Given the description of an element on the screen output the (x, y) to click on. 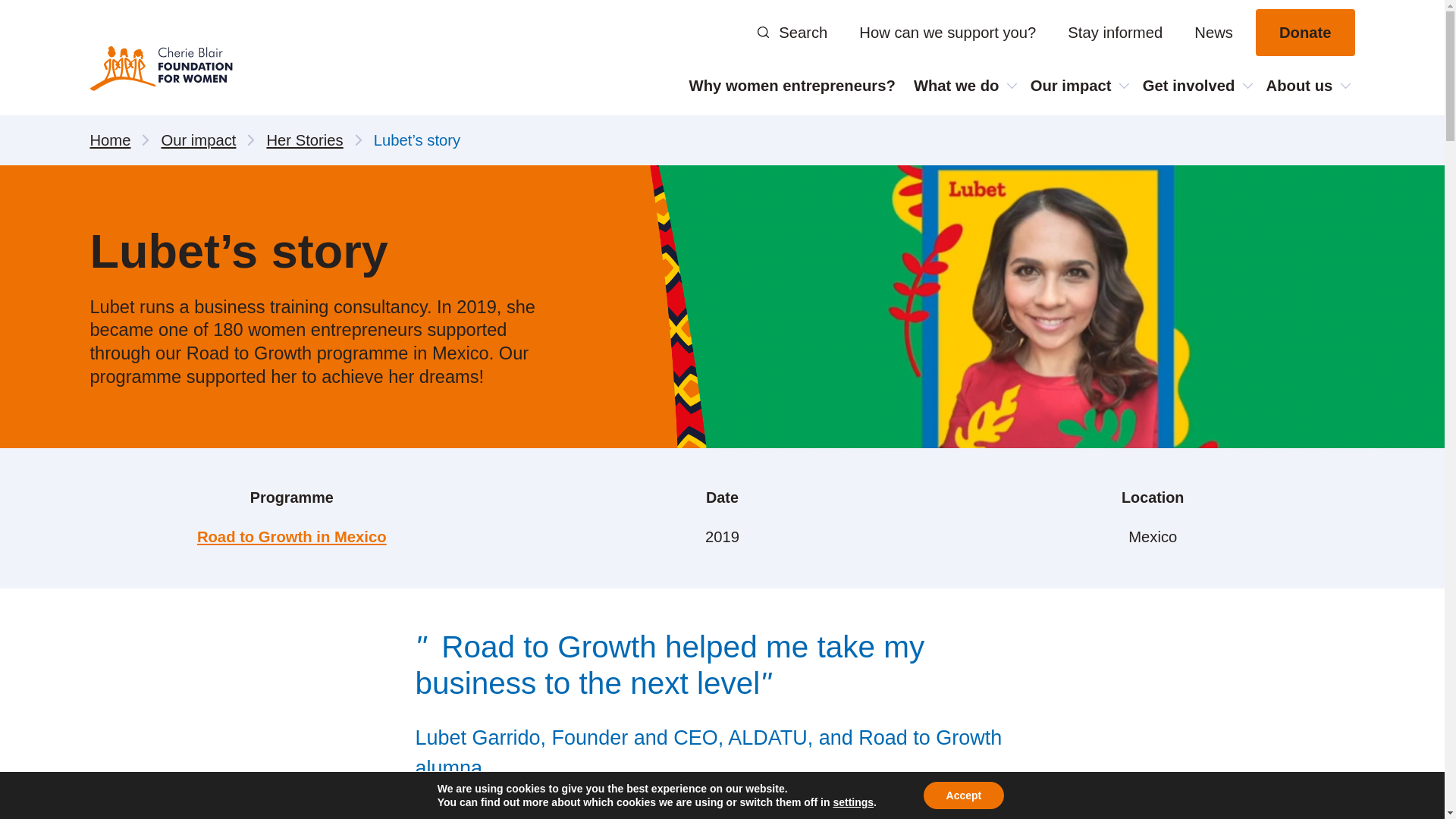
News (1320, 140)
Her stories (1087, 140)
Mentoring Women in Business (1189, 152)
Donate (1305, 32)
What we do (963, 85)
Search (791, 32)
Stay informed (1115, 32)
Why women entrepreneurs? (791, 85)
Our impact (1078, 85)
Get involved (1195, 85)
Active projects (1189, 140)
Our projects (999, 140)
How can we support you? (947, 32)
News (1213, 32)
About us (1306, 85)
